Given the description of an element on the screen output the (x, y) to click on. 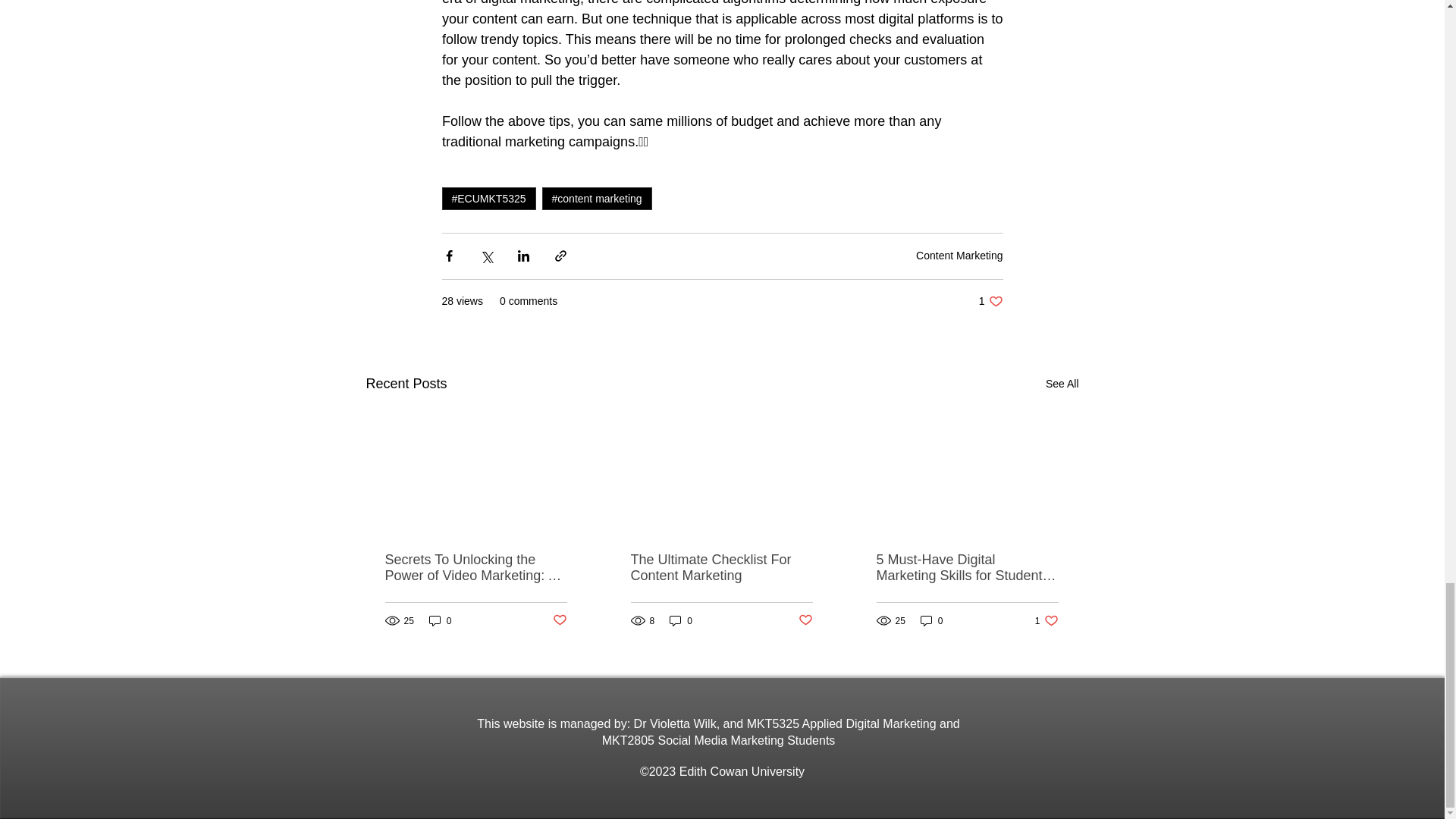
0 (681, 620)
Post not marked as liked (804, 620)
Post not marked as liked (558, 620)
See All (1061, 383)
0 (931, 620)
0 (440, 620)
Content Marketing (959, 255)
The Ultimate Checklist For Content Marketing (990, 301)
